Given the description of an element on the screen output the (x, y) to click on. 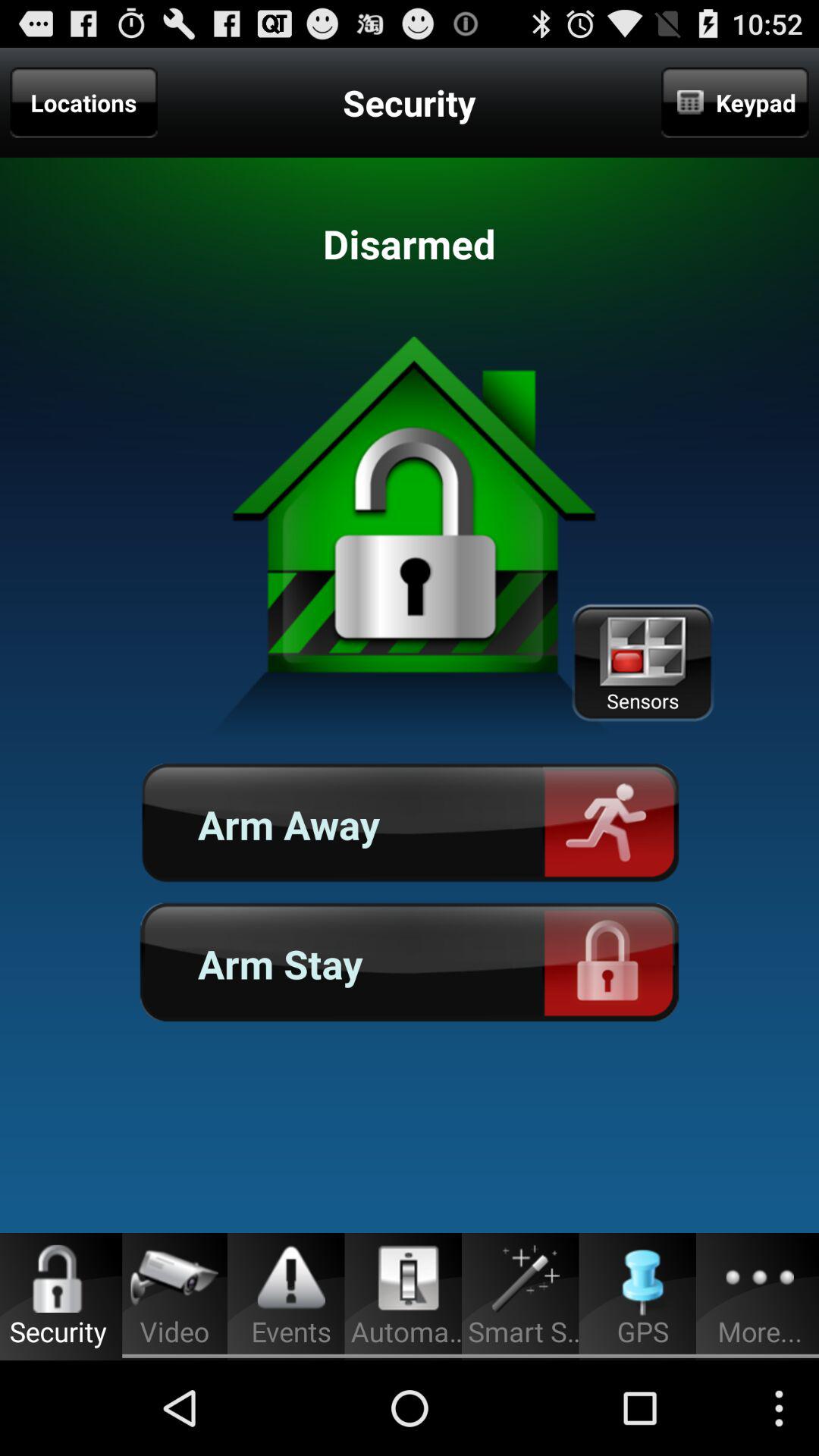
click the icon above automa (408, 1277)
click on icon above smart s (525, 1278)
click on locations on the top left corner (84, 102)
click the gps icon in the bottom (643, 1280)
select the icon which is above the more (759, 1278)
select the icon which is above the events (291, 1278)
select the image above security (58, 1278)
